Given the description of an element on the screen output the (x, y) to click on. 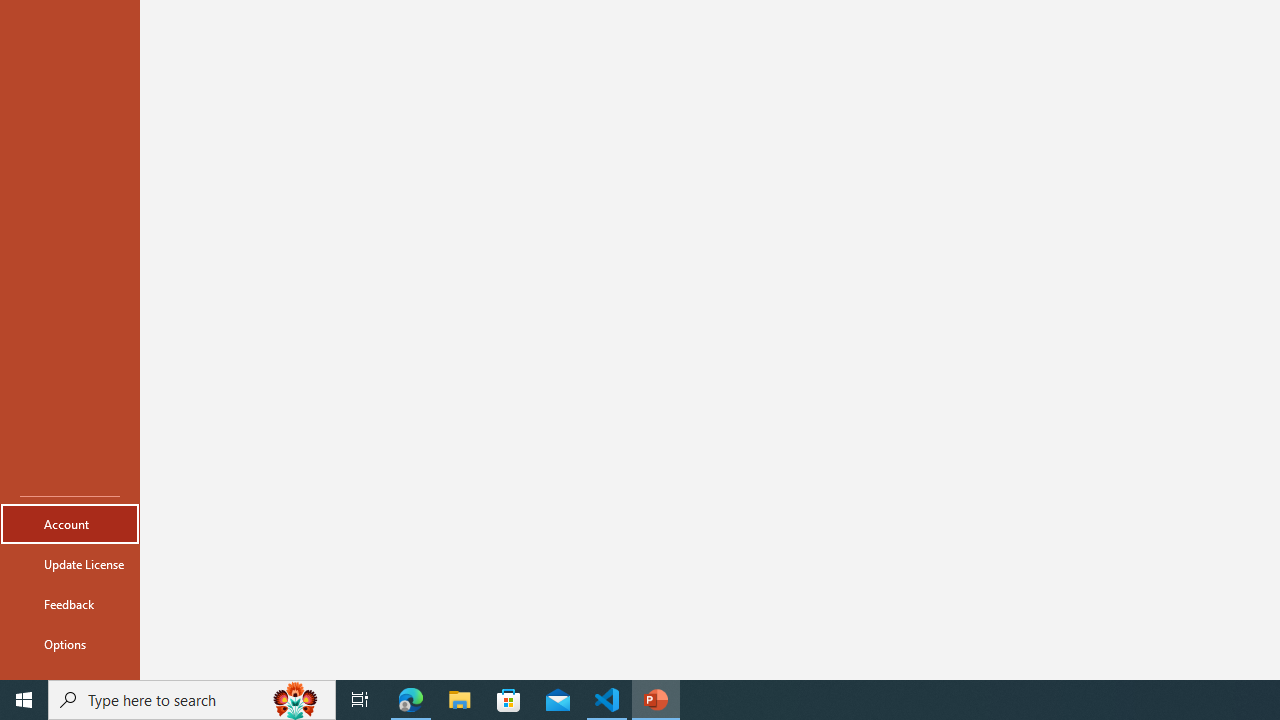
Options (69, 643)
Feedback (69, 603)
Account (69, 523)
Update License (69, 563)
